Given the description of an element on the screen output the (x, y) to click on. 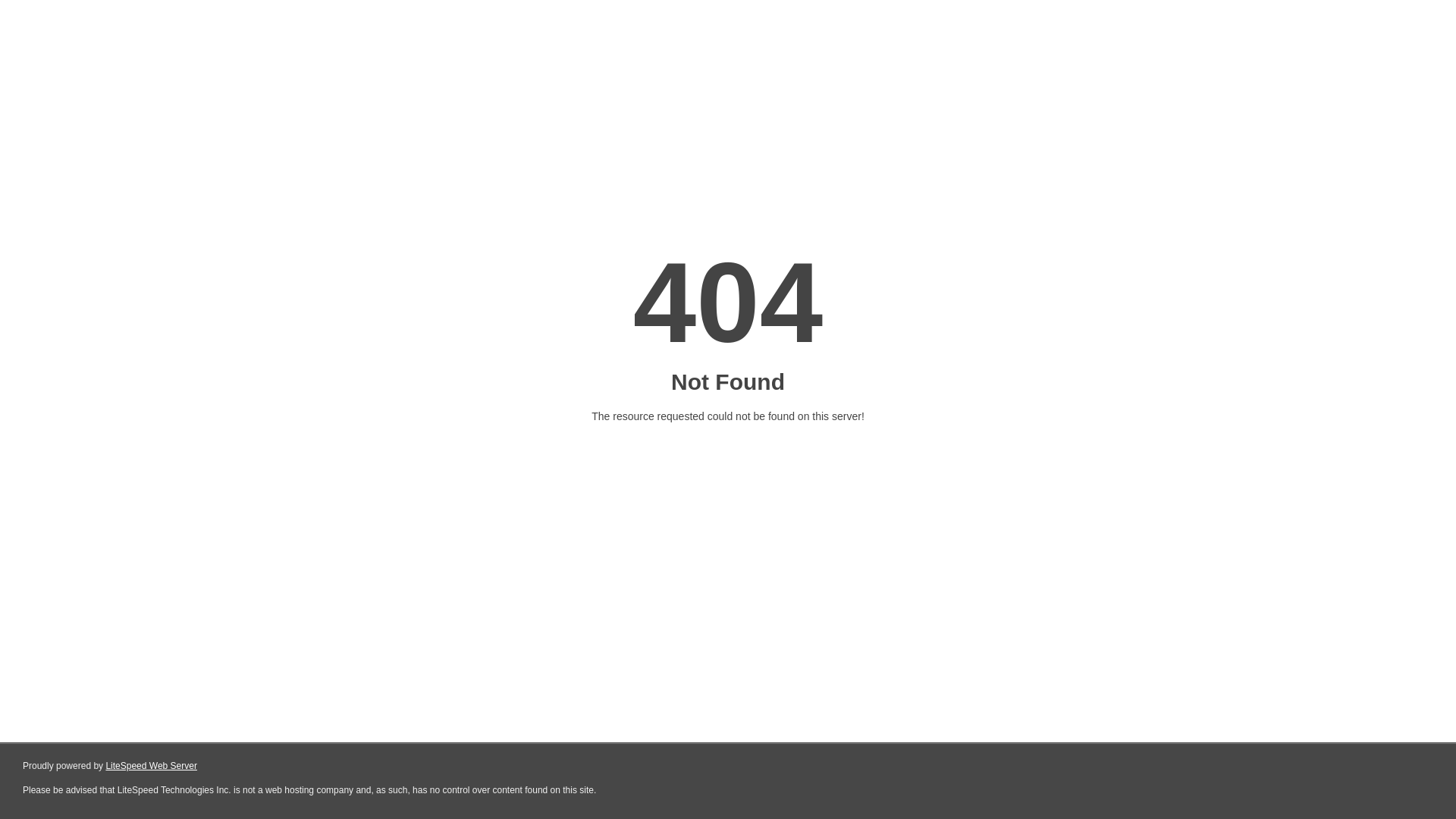
LiteSpeed Web Server Element type: text (151, 765)
